Given the description of an element on the screen output the (x, y) to click on. 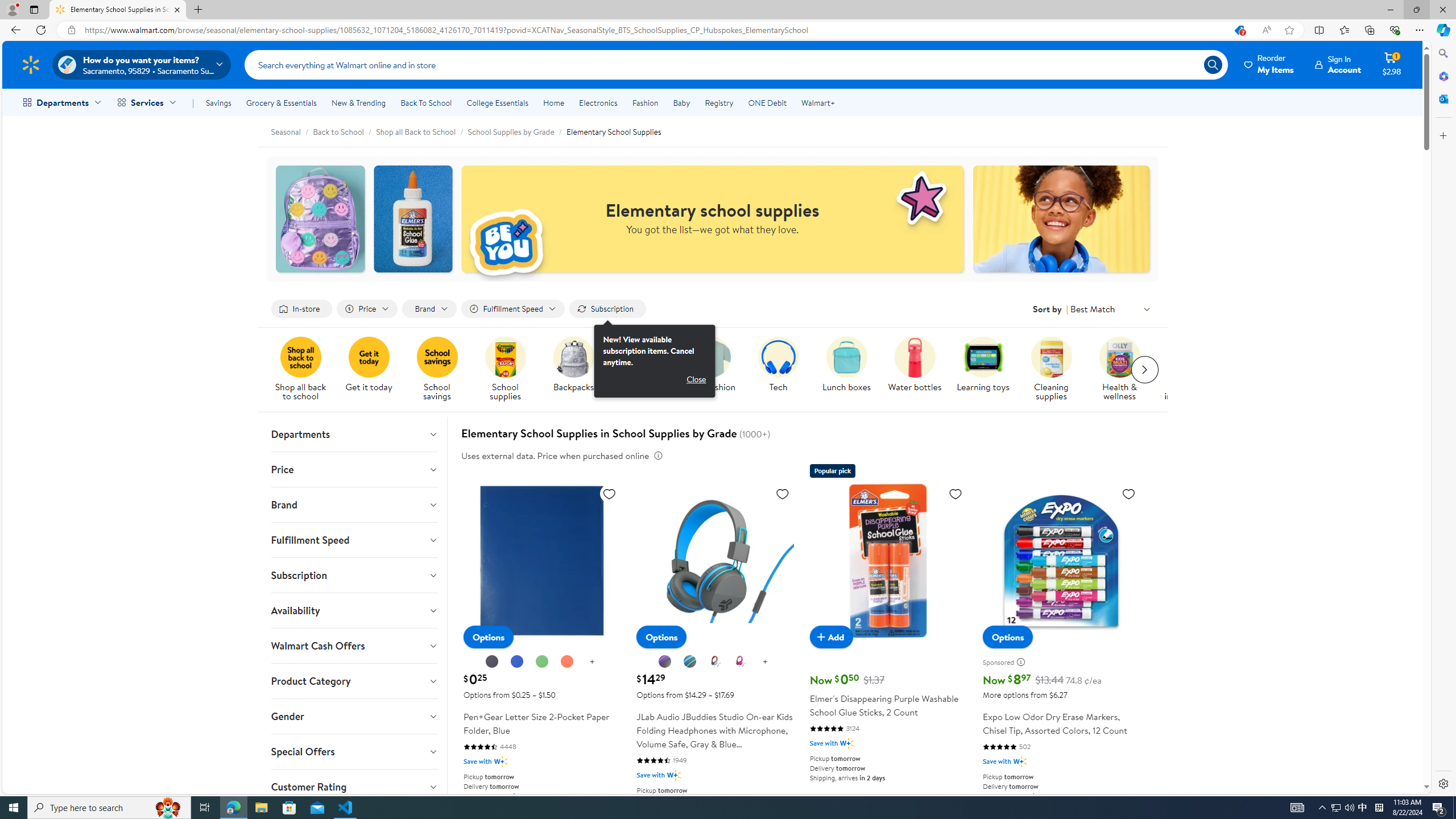
College Essentials (496, 102)
Sign In Account (1338, 64)
Registry (718, 102)
Boys' fashion Boys' fashion (709, 364)
Class: ld ld-ChevronDown pa0 ml6 (1146, 308)
Savings (217, 102)
Back to School (345, 131)
Shop all Back to School (421, 131)
Baby (681, 102)
